Given the description of an element on the screen output the (x, y) to click on. 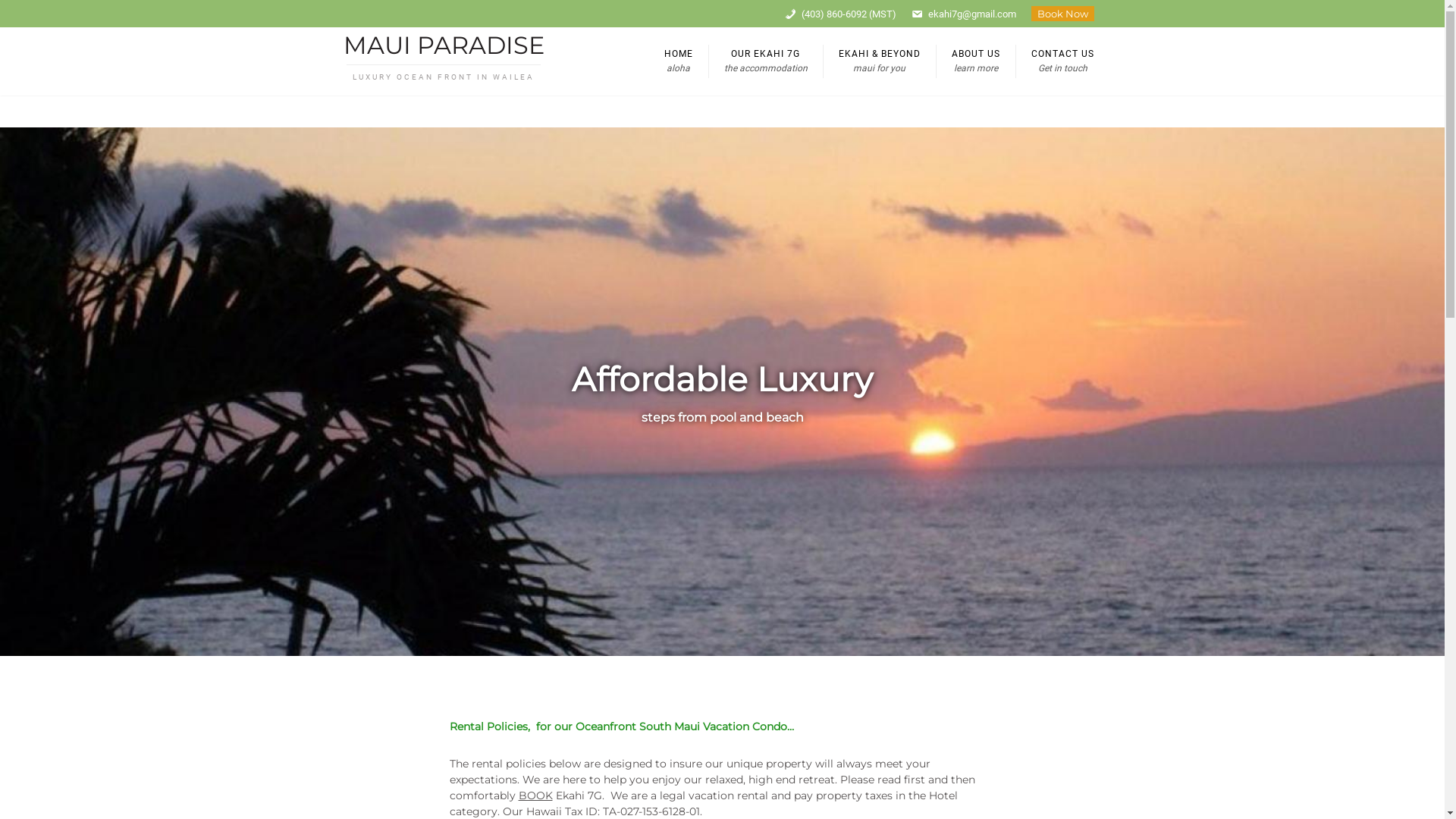
(403) 860-6092 (MST) Element type: text (839, 12)
ekahi7g@gmail.com Element type: text (963, 12)
BOOK Element type: text (535, 795)
CONTACT US
Get in touch Element type: text (1061, 61)
Book Now Element type: text (1062, 13)
ABOUT US
learn more Element type: text (975, 61)
HOME
aloha Element type: text (678, 61)
MAUI PARADISE
LUXURY OCEAN FRONT IN WAILEA Element type: text (442, 61)
OUR EKAHI 7G
the accommodation Element type: text (765, 61)
EKAHI & BEYOND
maui for you Element type: text (878, 61)
